Given the description of an element on the screen output the (x, y) to click on. 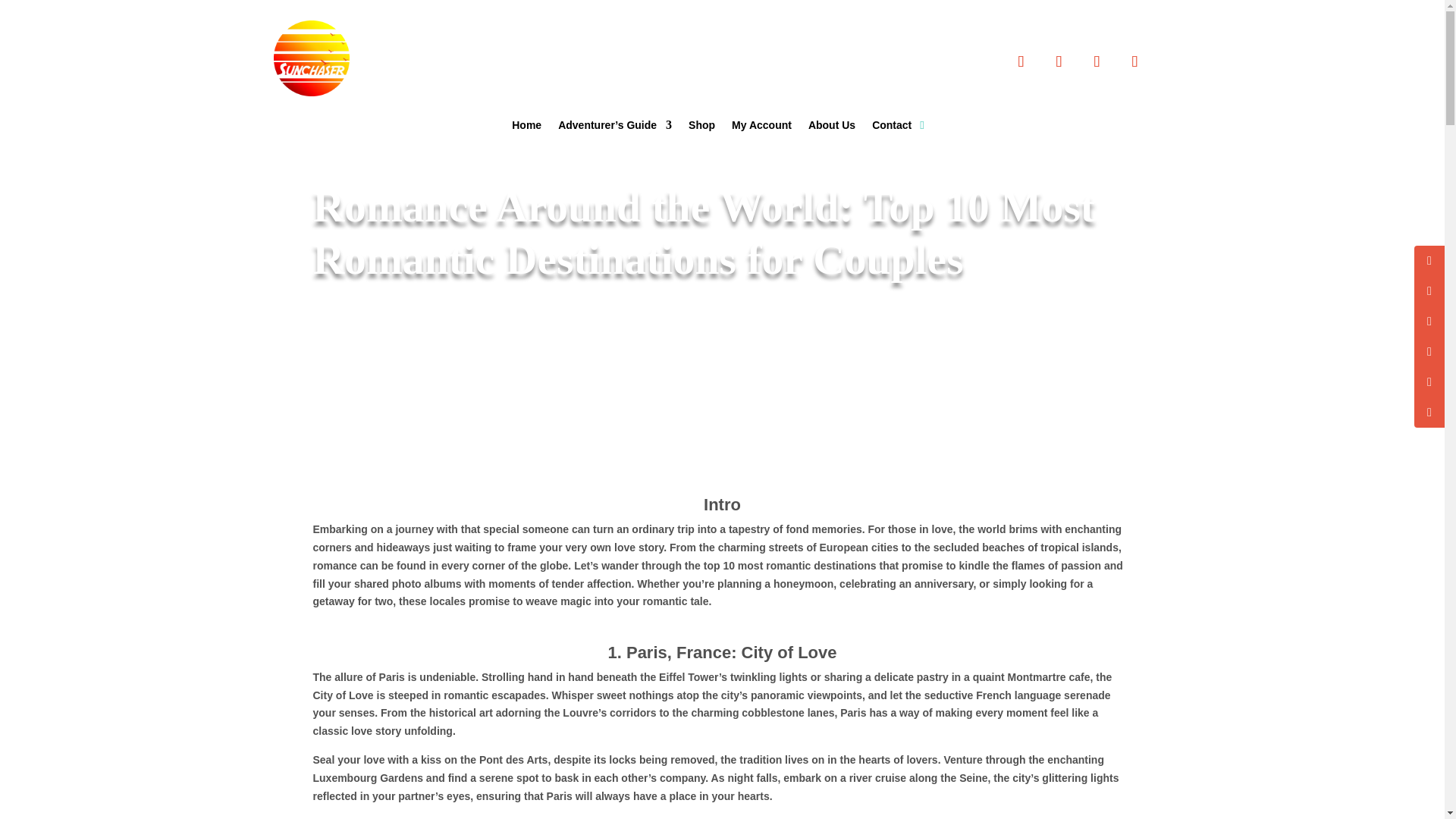
About Us (832, 127)
My Account (762, 127)
Follow on Instagram (1058, 60)
Follow on Facebook (1134, 60)
Follow on Pinterest (1096, 60)
Shop (701, 127)
Home (526, 127)
Follow on Youtube (1020, 60)
Contact (891, 127)
